Given the description of an element on the screen output the (x, y) to click on. 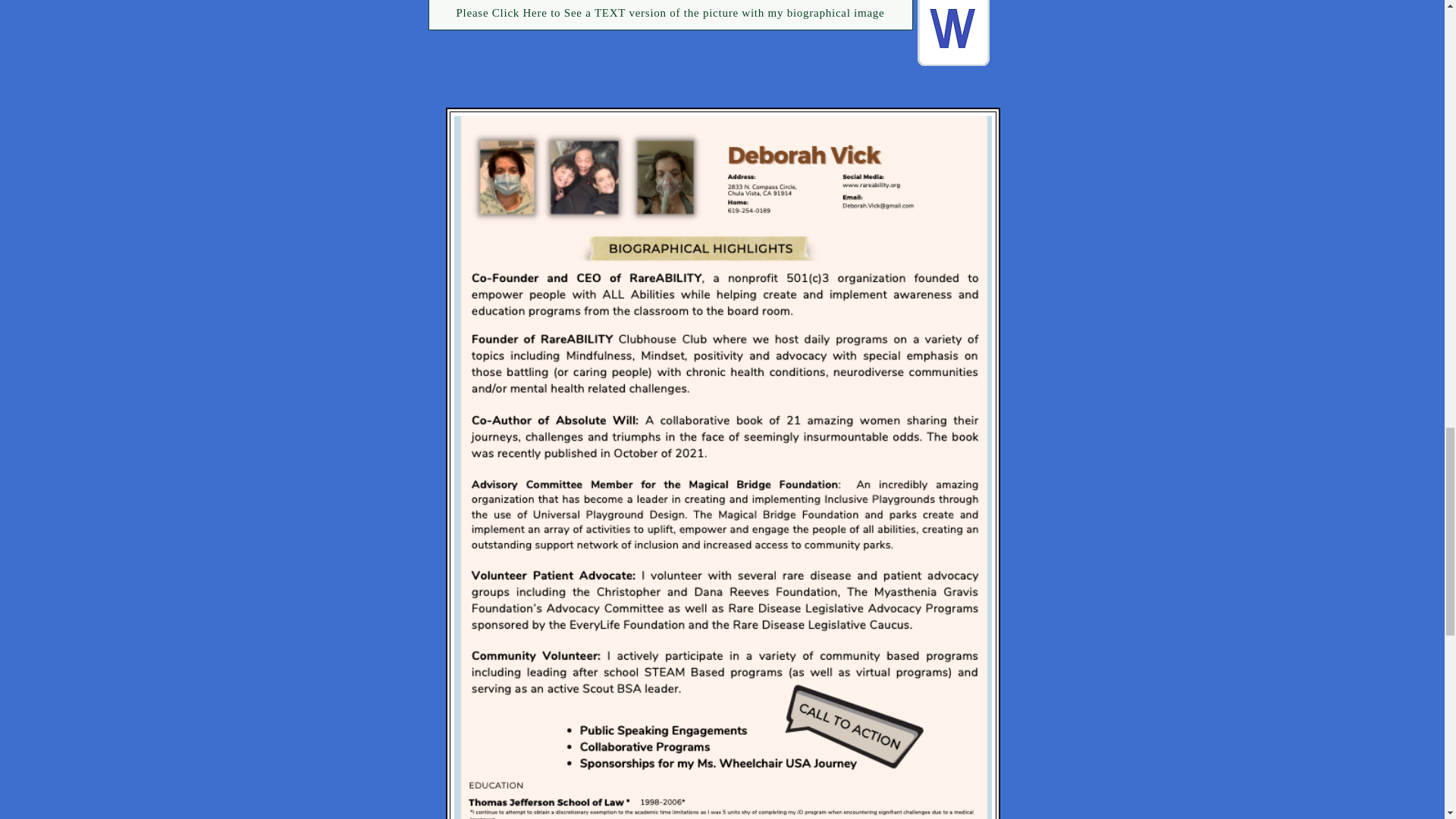
Biographical Highlights.rtf (953, 34)
